Given the description of an element on the screen output the (x, y) to click on. 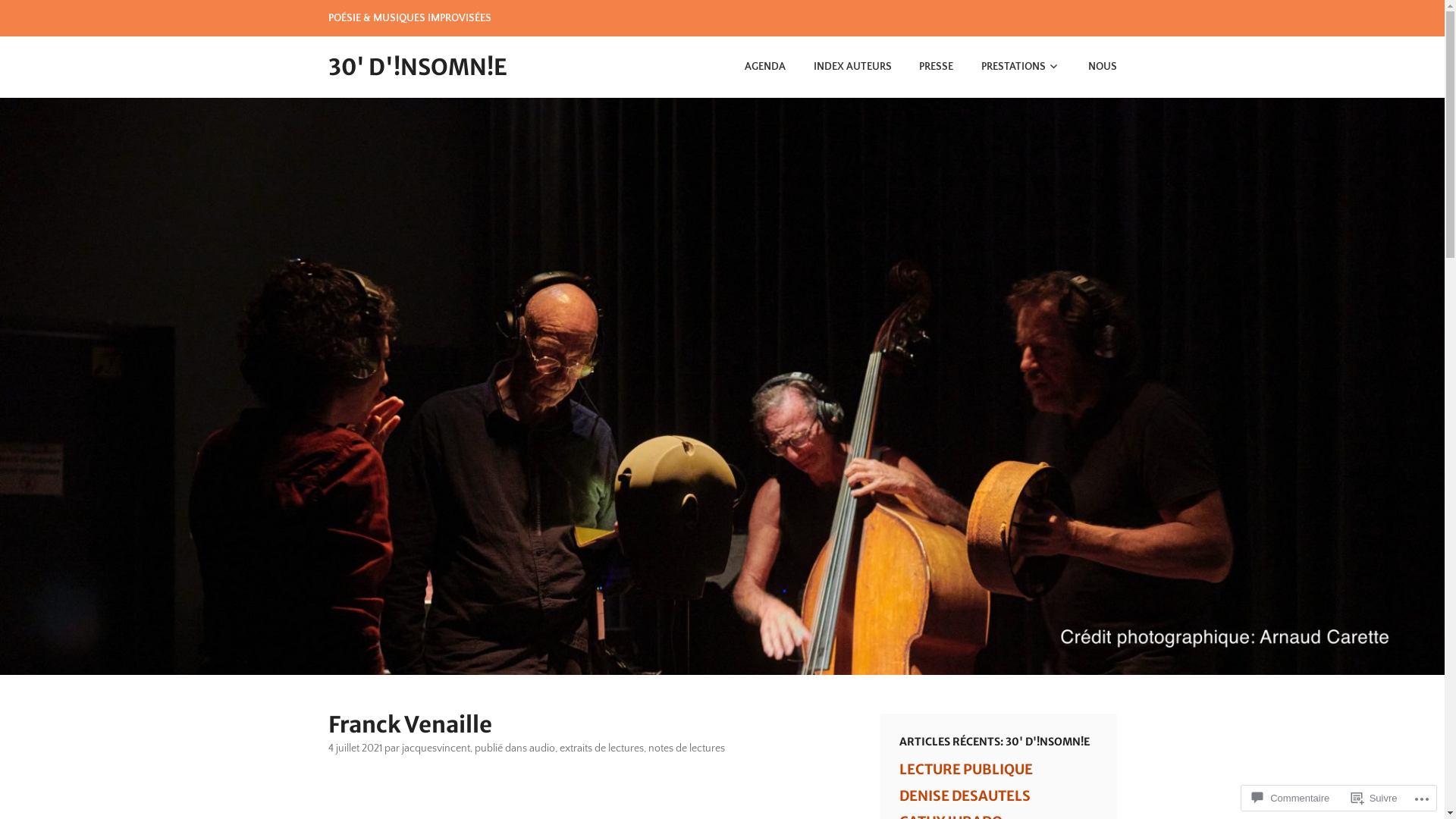
jacquesvincent Element type: text (435, 748)
audio Element type: text (542, 748)
DENISE DESAUTELS Element type: text (964, 795)
30' D'!NSOMN!E Element type: text (416, 67)
LECTURE PUBLIQUE Element type: text (965, 769)
Suivre Element type: text (1374, 797)
4 juillet 2021 Element type: text (354, 748)
notes de lectures Element type: text (685, 748)
INDEX AUTEURS Element type: text (839, 67)
PRESSE Element type: text (923, 67)
extraits de lectures Element type: text (601, 748)
AGENDA Element type: text (752, 67)
NOUS Element type: text (1089, 67)
Commentaire Element type: text (1290, 797)
PRESTATIONS Element type: text (1007, 67)
